Given the description of an element on the screen output the (x, y) to click on. 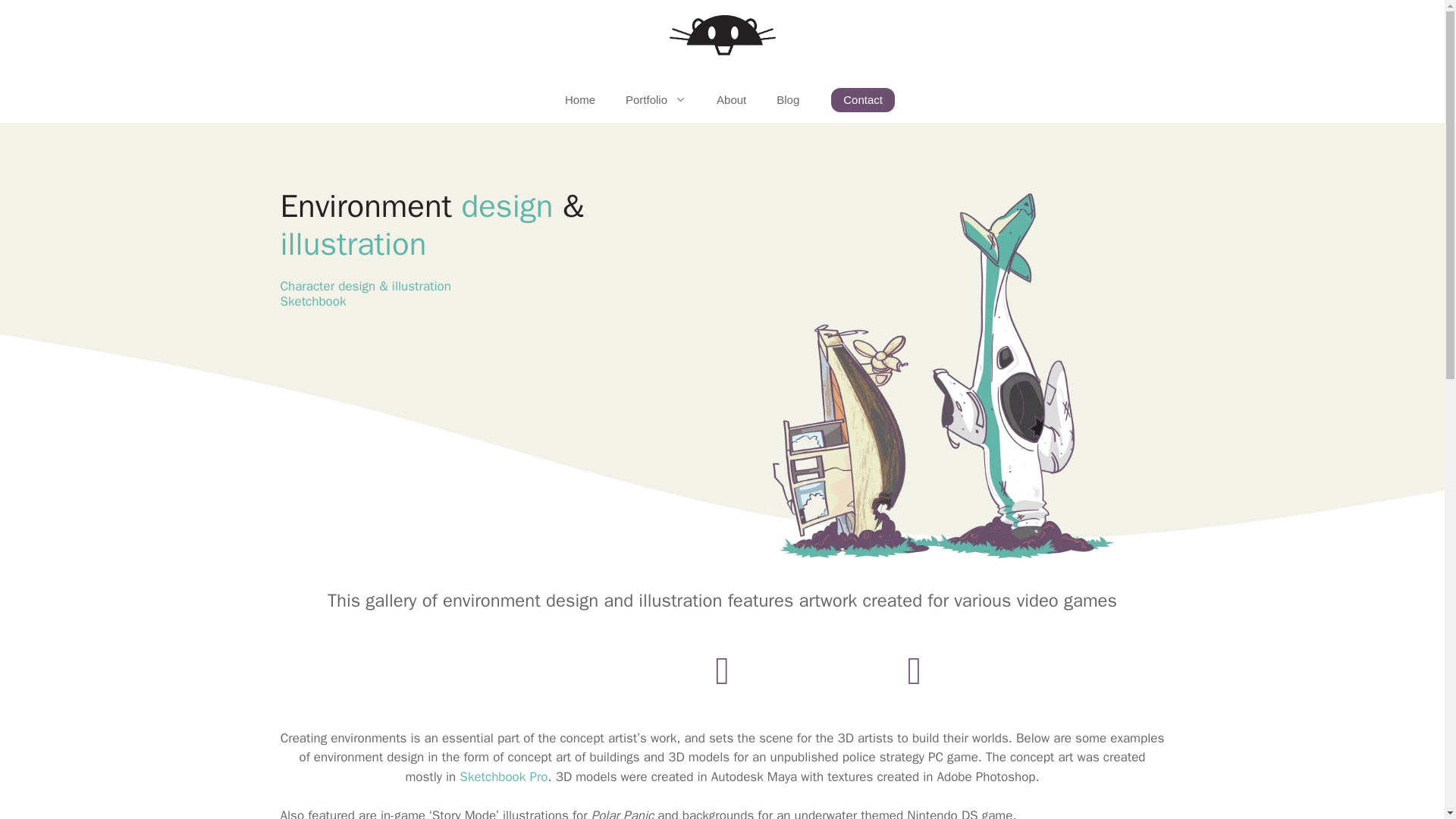
Contact (863, 99)
About (731, 99)
Sketchbook Pro (503, 776)
Home (580, 99)
Portfolio (655, 99)
Sketchbook (315, 301)
Blog (787, 99)
